Given the description of an element on the screen output the (x, y) to click on. 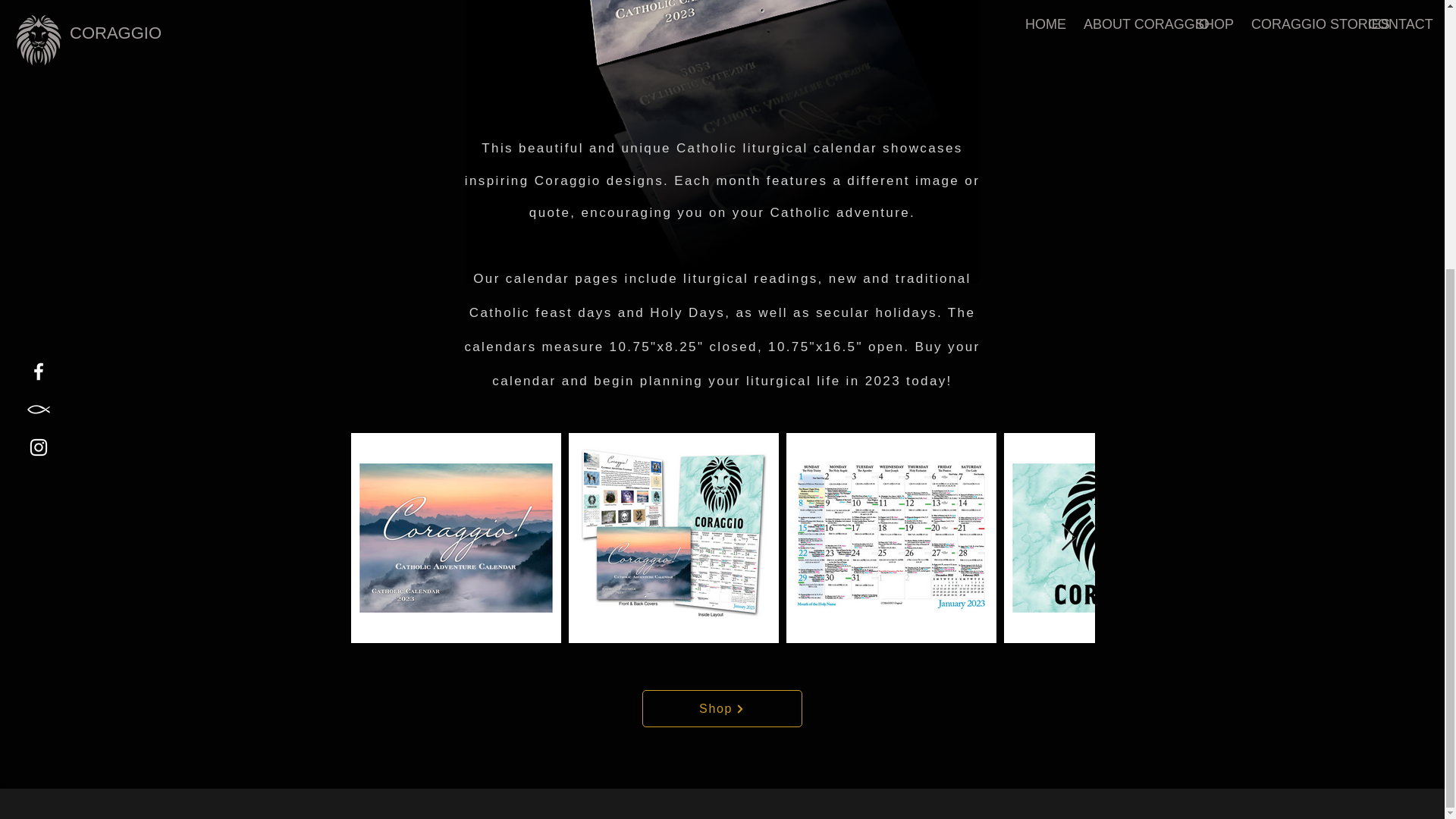
Shop (722, 708)
